Given the description of an element on the screen output the (x, y) to click on. 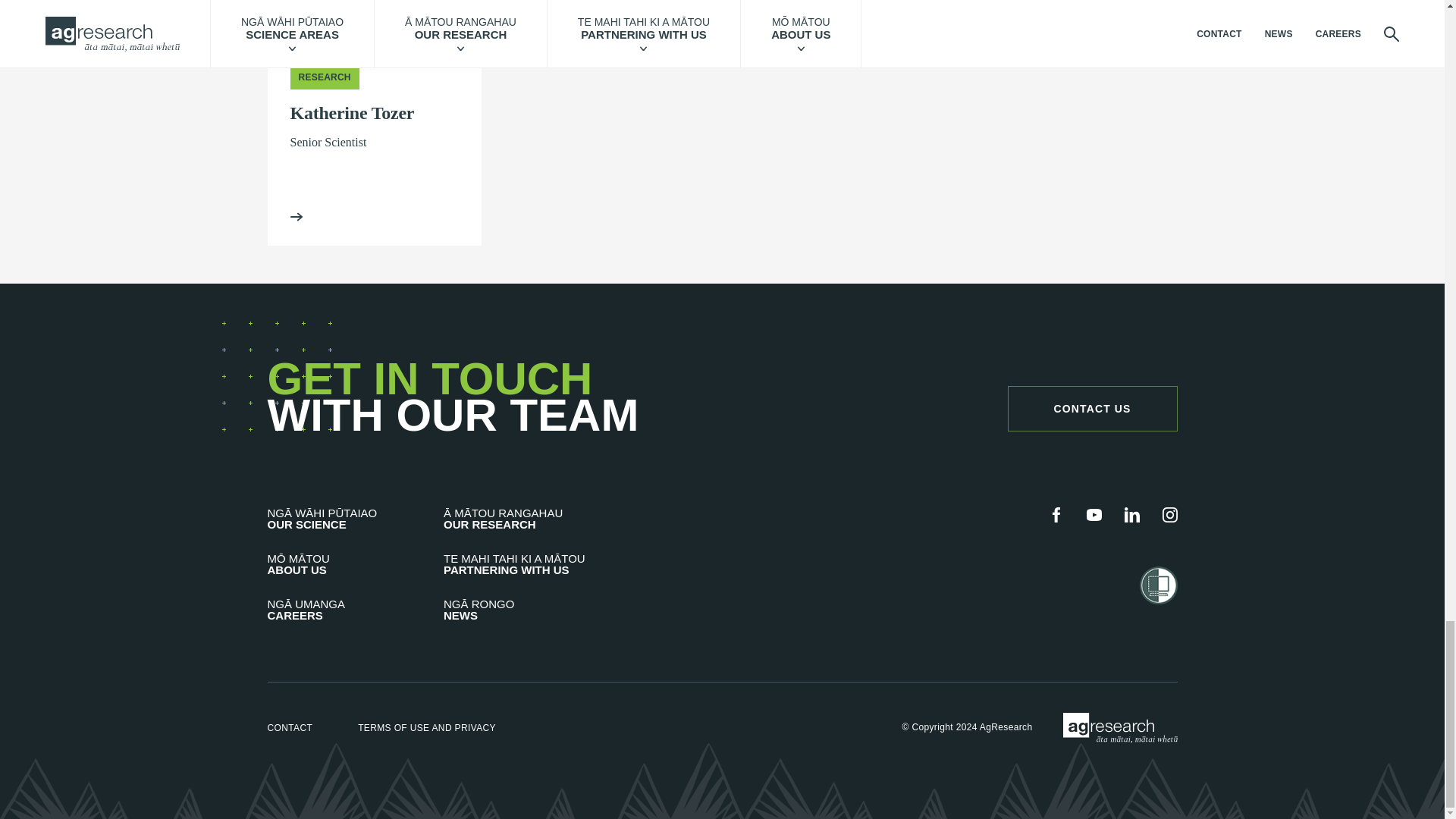
AgResearch on YouTube (1093, 514)
YouTube (1093, 514)
LinkedIn (1131, 514)
CONTACT (289, 727)
Facebook (1055, 514)
AgResearch on Instagram (1168, 514)
AgResearch on Facebook (1055, 514)
Return to home page (1119, 727)
Instagram (1168, 514)
CONTACT US (1092, 408)
AgResearch on LinkedIn (1131, 514)
TERMS OF USE AND PRIVACY (427, 727)
